Given the description of an element on the screen output the (x, y) to click on. 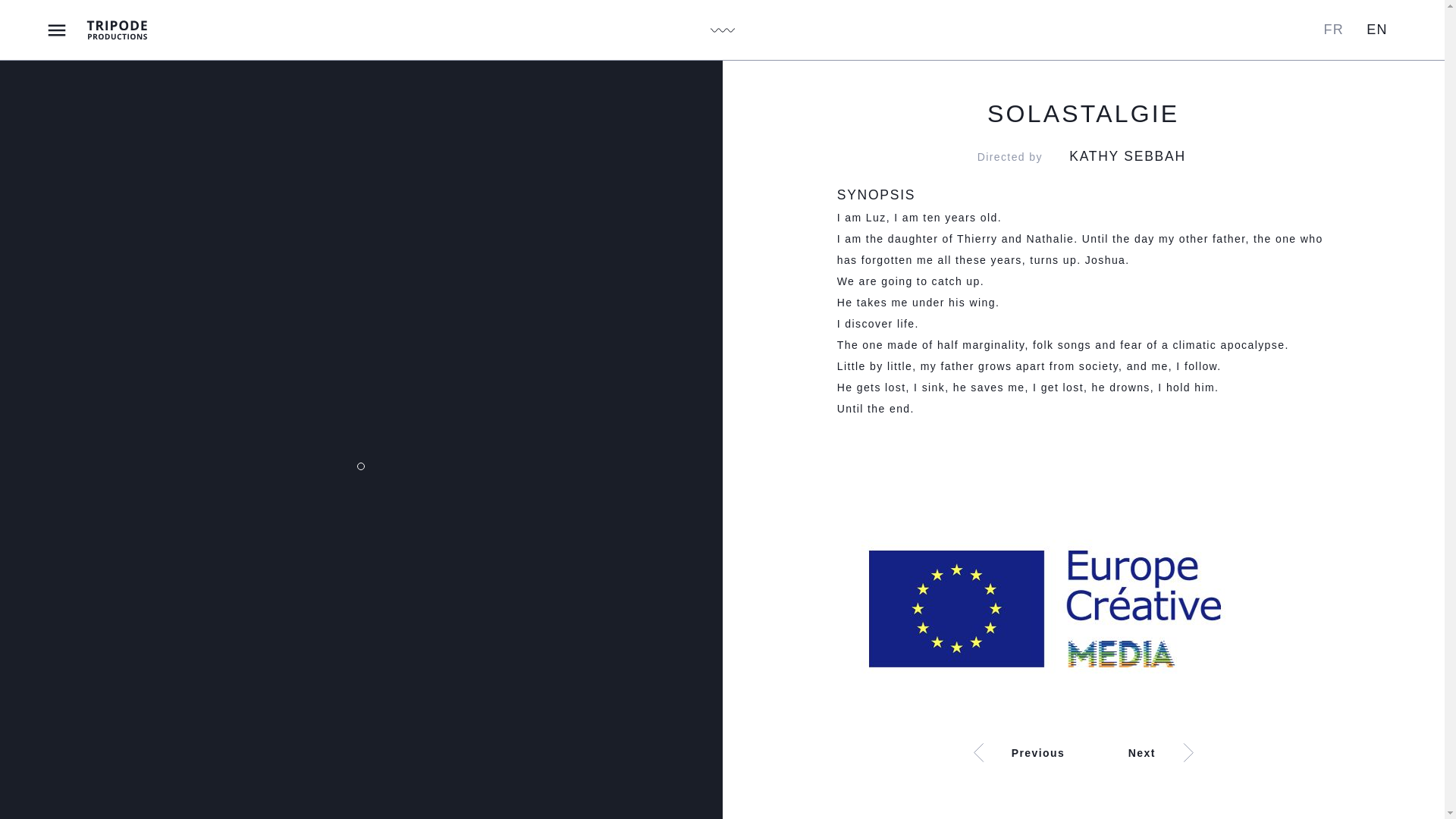
Previous (960, 752)
FR (1333, 29)
EN (1377, 29)
Next (1206, 752)
1 (360, 466)
KATHY SEBBAH (1127, 155)
